Given the description of an element on the screen output the (x, y) to click on. 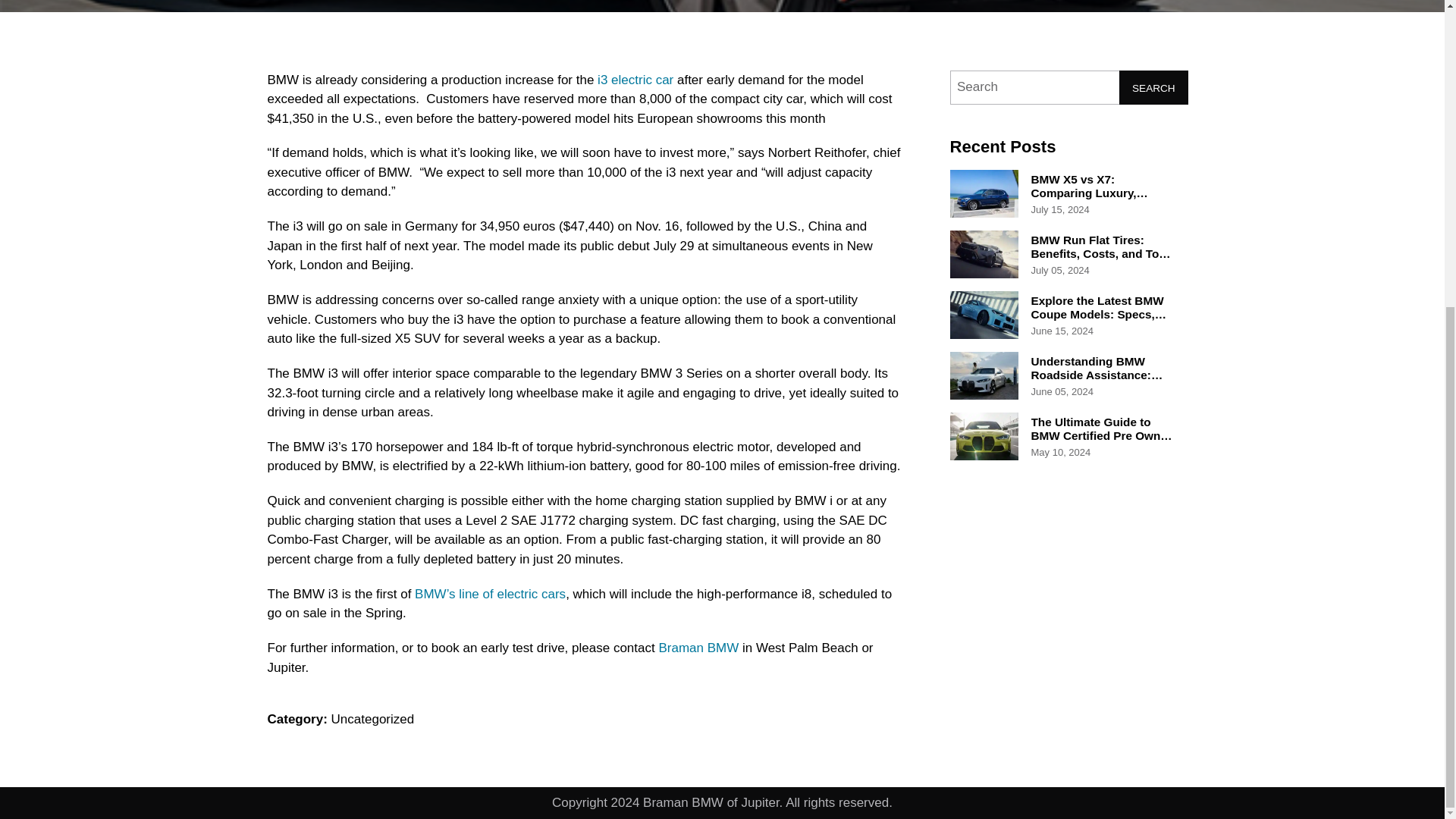
i3 electric car (634, 79)
BMW X5 vs X7: Comparing Luxury, Performance, and Features (1089, 199)
Braman BMW (698, 647)
SEARCH (1153, 86)
Uncategorized (372, 718)
